Given the description of an element on the screen output the (x, y) to click on. 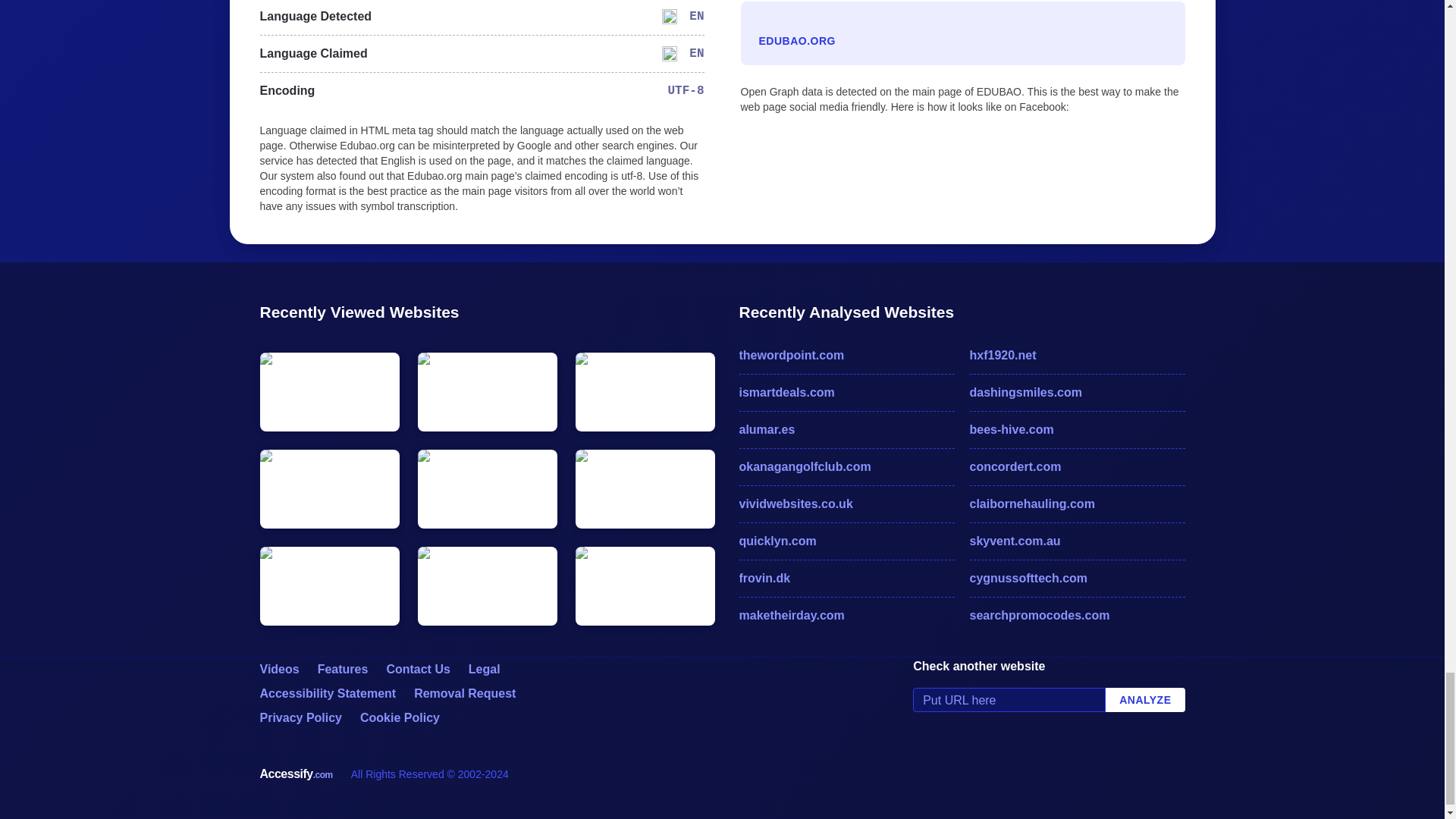
Videos (278, 668)
Contact Us (417, 668)
ismartdeals.com (845, 393)
thewordpoint.com (845, 355)
dashingsmiles.com (1077, 393)
hxf1920.net (1077, 355)
okanagangolfclub.com (845, 466)
vividwebsites.co.uk (845, 504)
frovin.dk (845, 578)
